Given the description of an element on the screen output the (x, y) to click on. 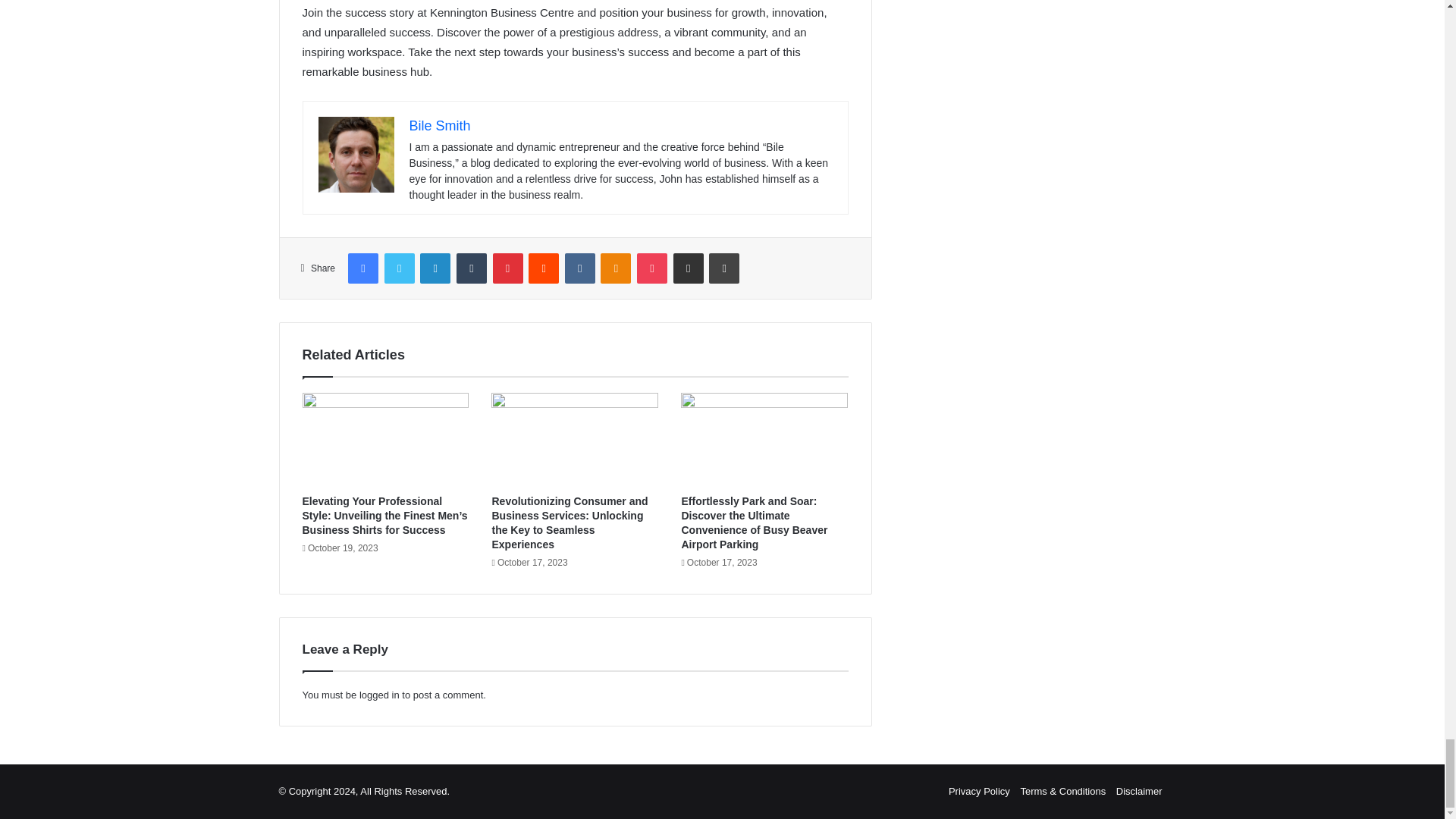
Bile Smith (439, 125)
